Given the description of an element on the screen output the (x, y) to click on. 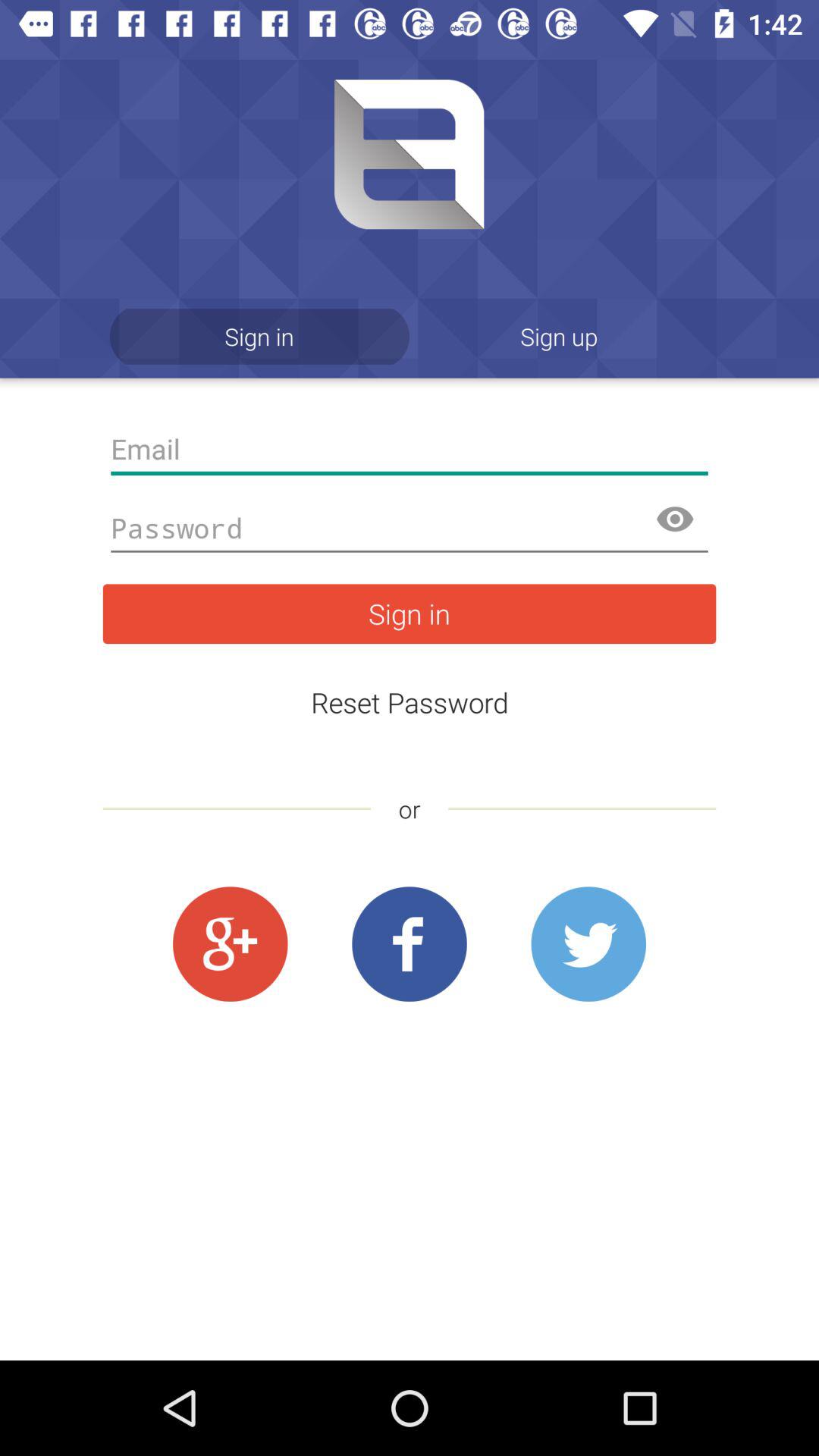
turn on the app to the right of the sign in icon (559, 336)
